Given the description of an element on the screen output the (x, y) to click on. 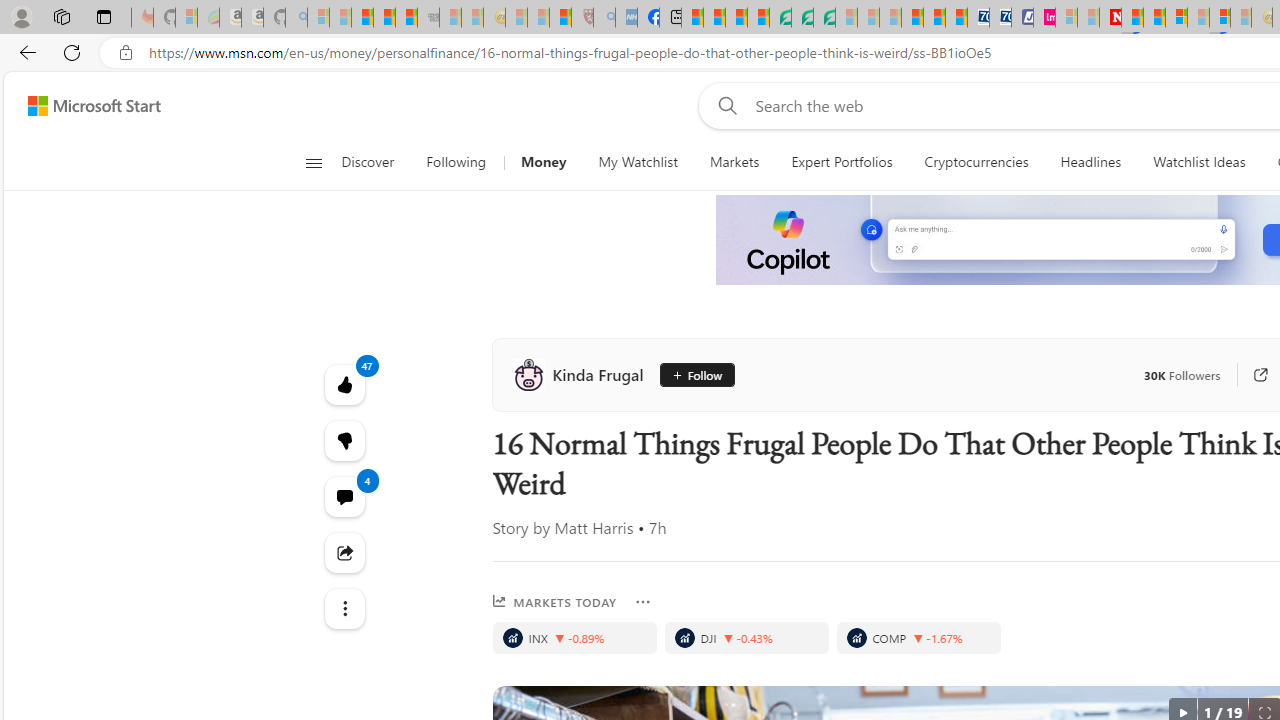
My Watchlist (637, 162)
Price decrease (918, 637)
